Given the description of an element on the screen output the (x, y) to click on. 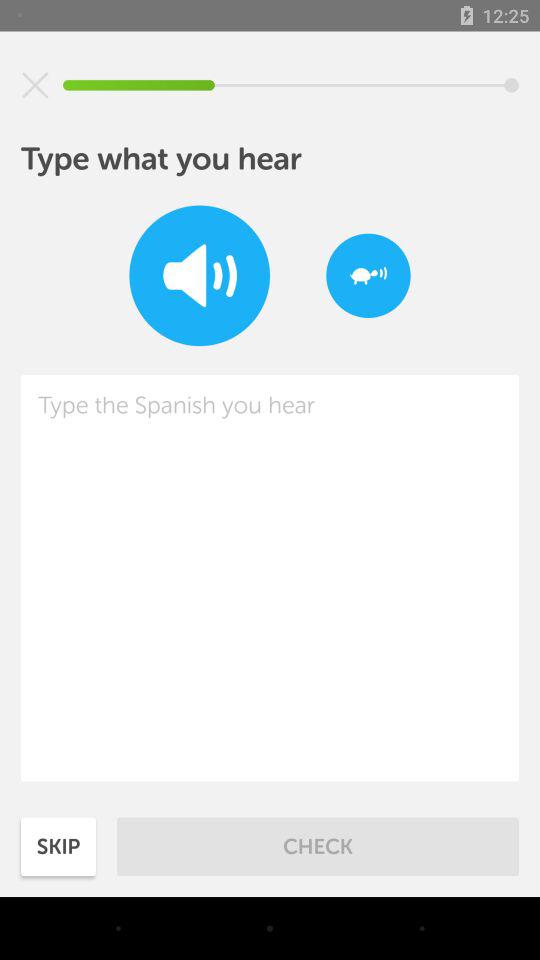
select check item (318, 846)
